Given the description of an element on the screen output the (x, y) to click on. 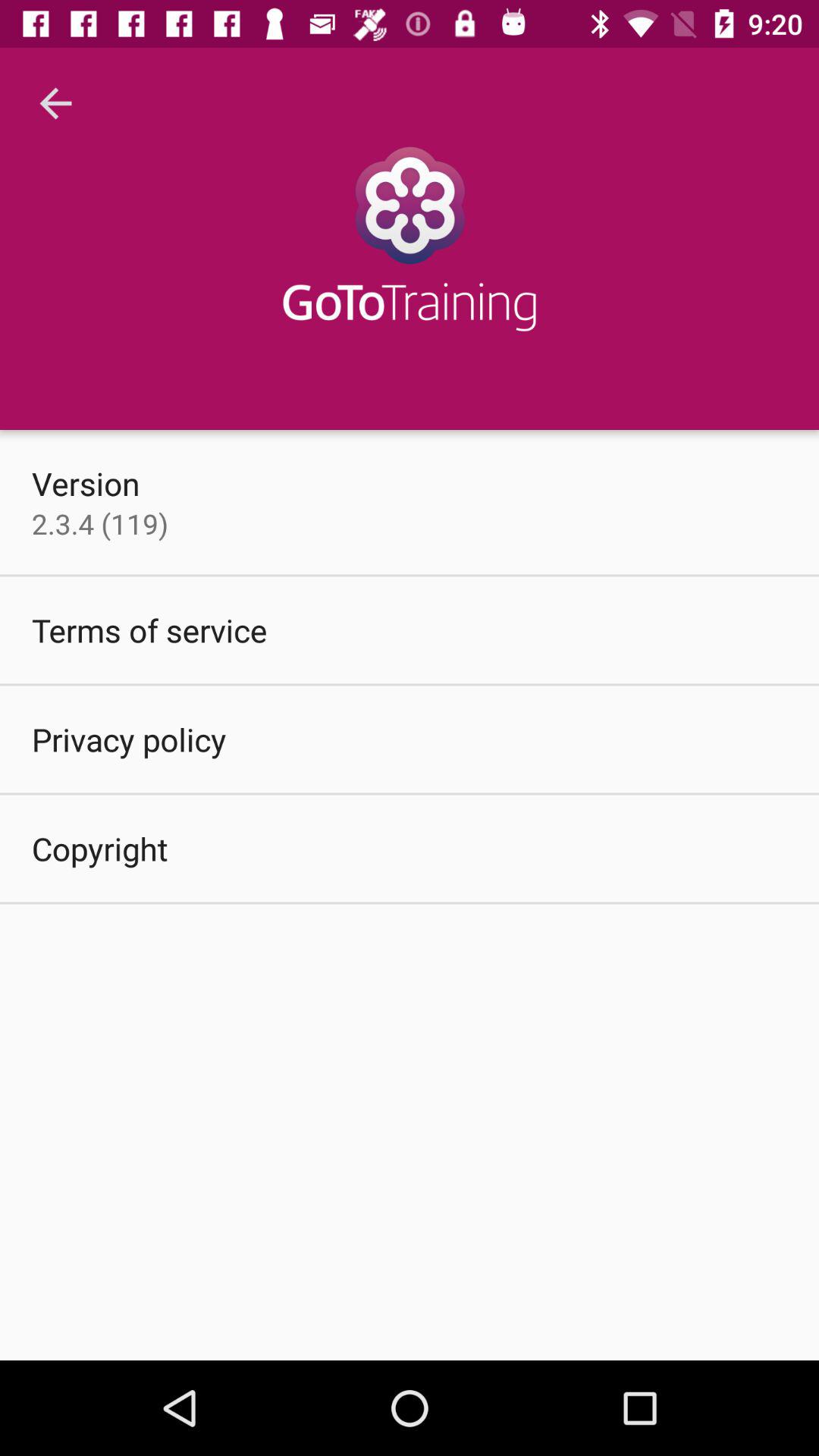
turn off the icon below the version (99, 523)
